Given the description of an element on the screen output the (x, y) to click on. 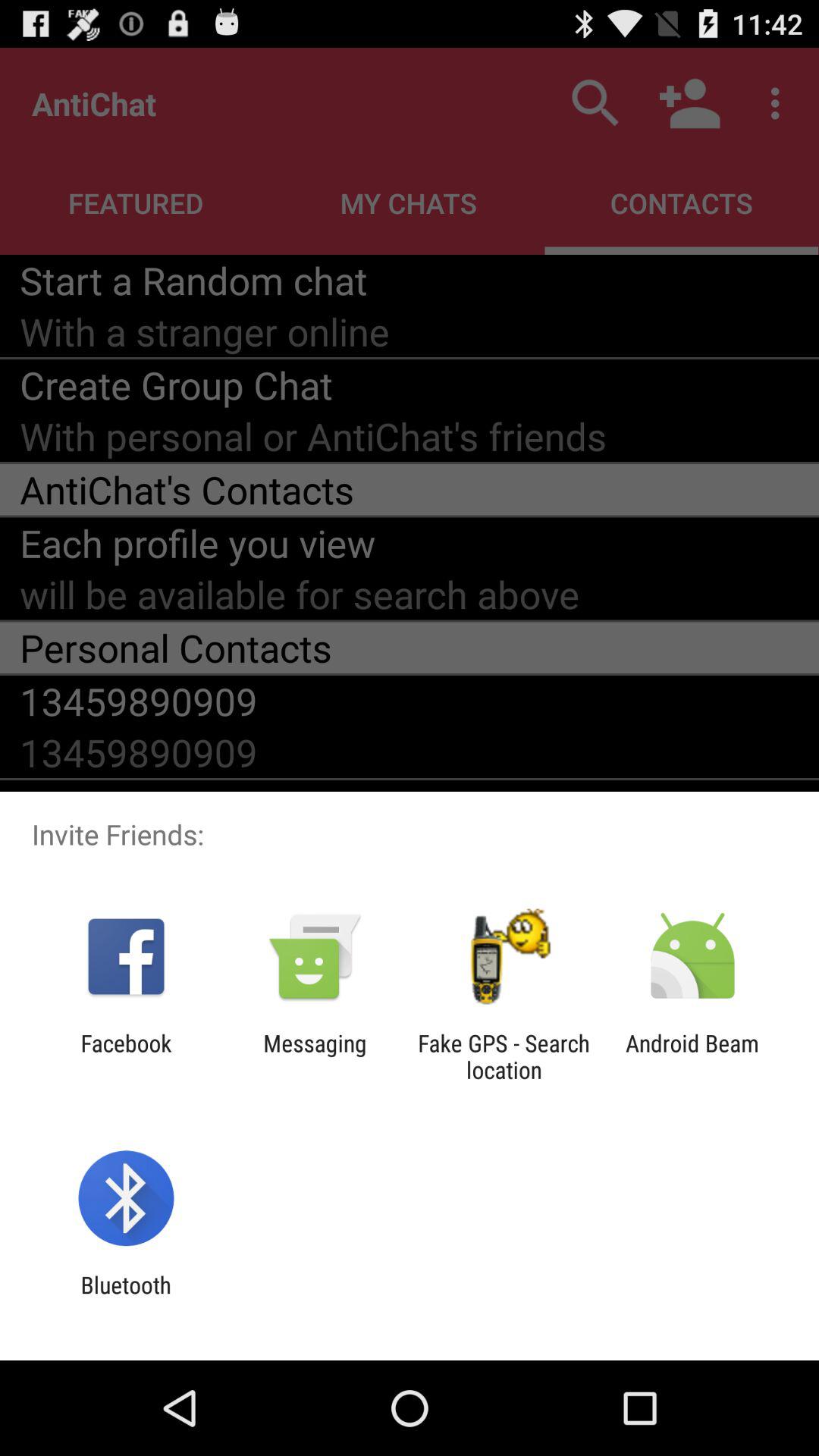
click the fake gps search item (503, 1056)
